Given the description of an element on the screen output the (x, y) to click on. 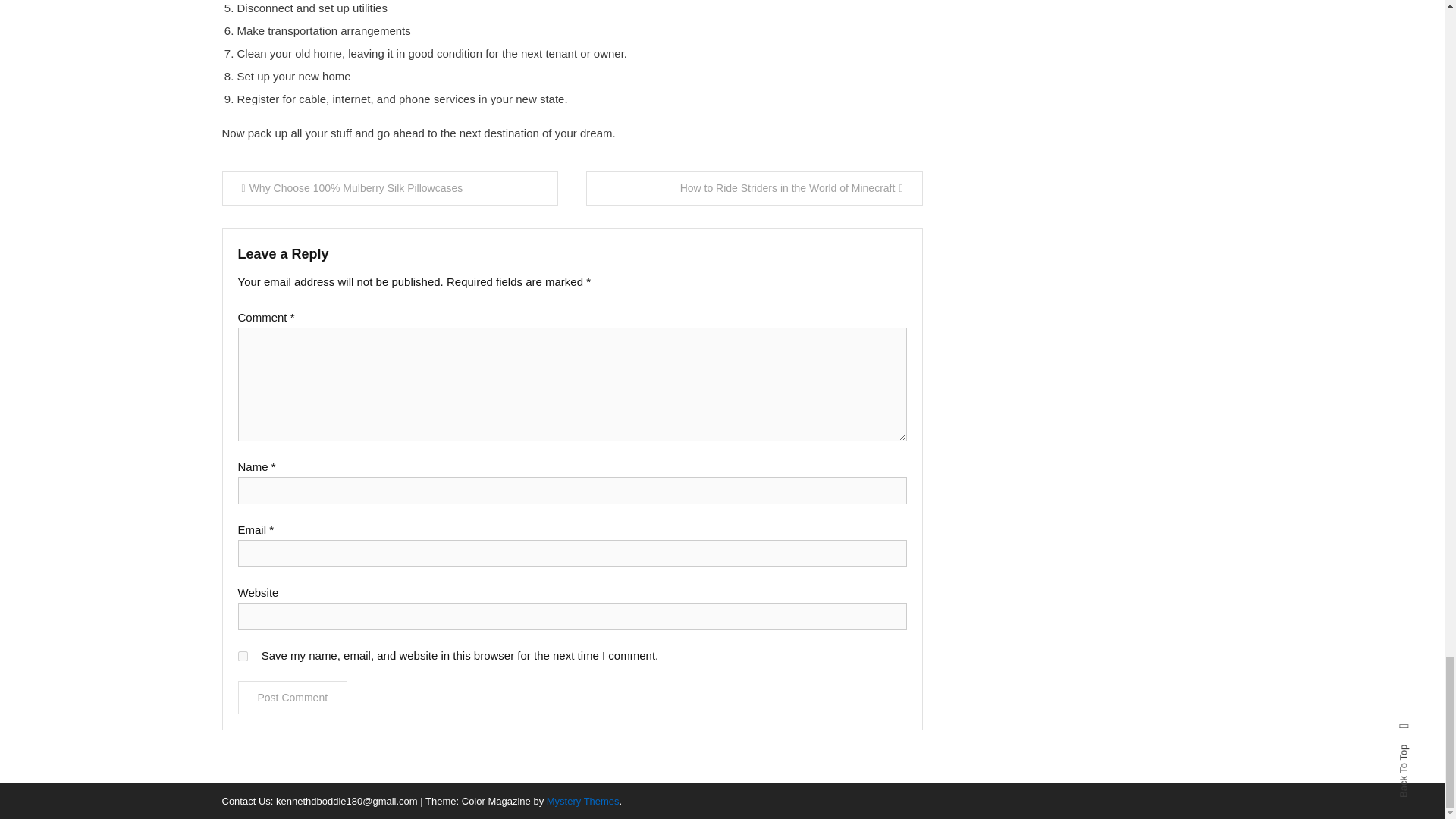
How to Ride Striders in the World of Minecraft (754, 188)
yes (242, 655)
Post Comment (292, 697)
